Given the description of an element on the screen output the (x, y) to click on. 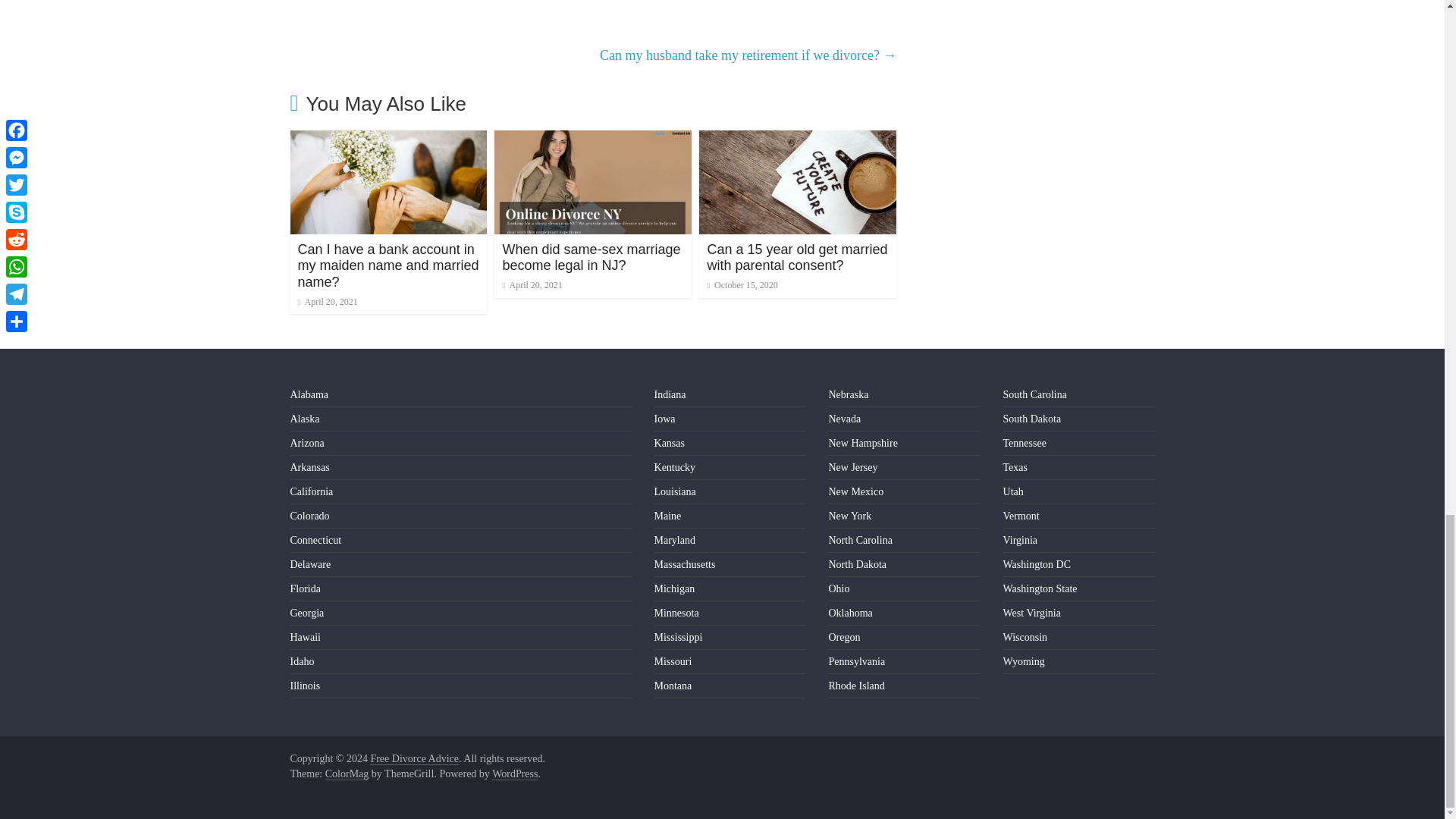
Can a 15 year old get married with parental consent? (796, 257)
3:32 pm (326, 301)
April 20, 2021 (326, 301)
When did same-sex marriage become legal in NJ? (590, 257)
April 20, 2021 (532, 285)
October 15, 2020 (741, 285)
